Given the description of an element on the screen output the (x, y) to click on. 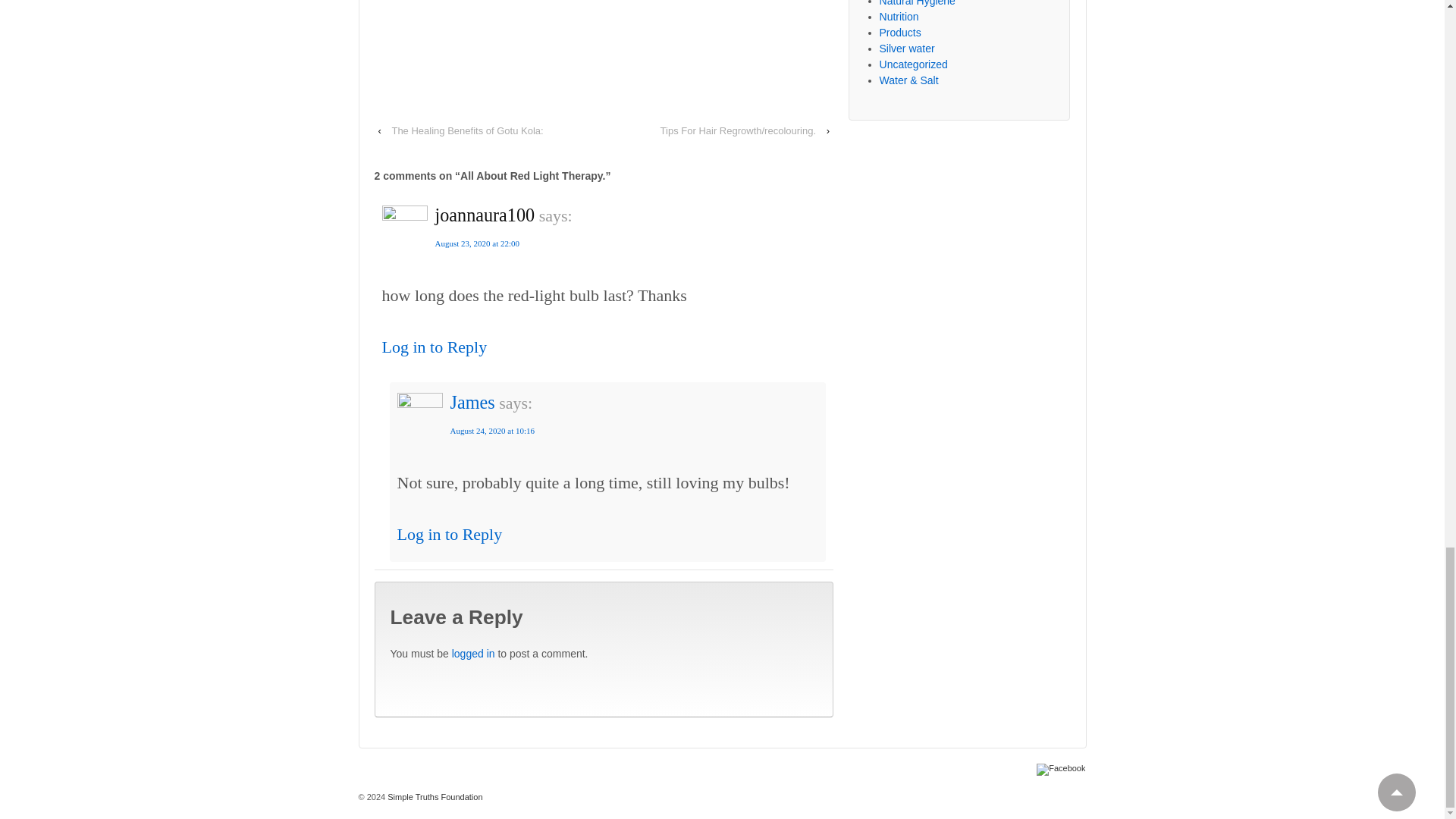
Simple Truths Foundation (433, 796)
